Given the description of an element on the screen output the (x, y) to click on. 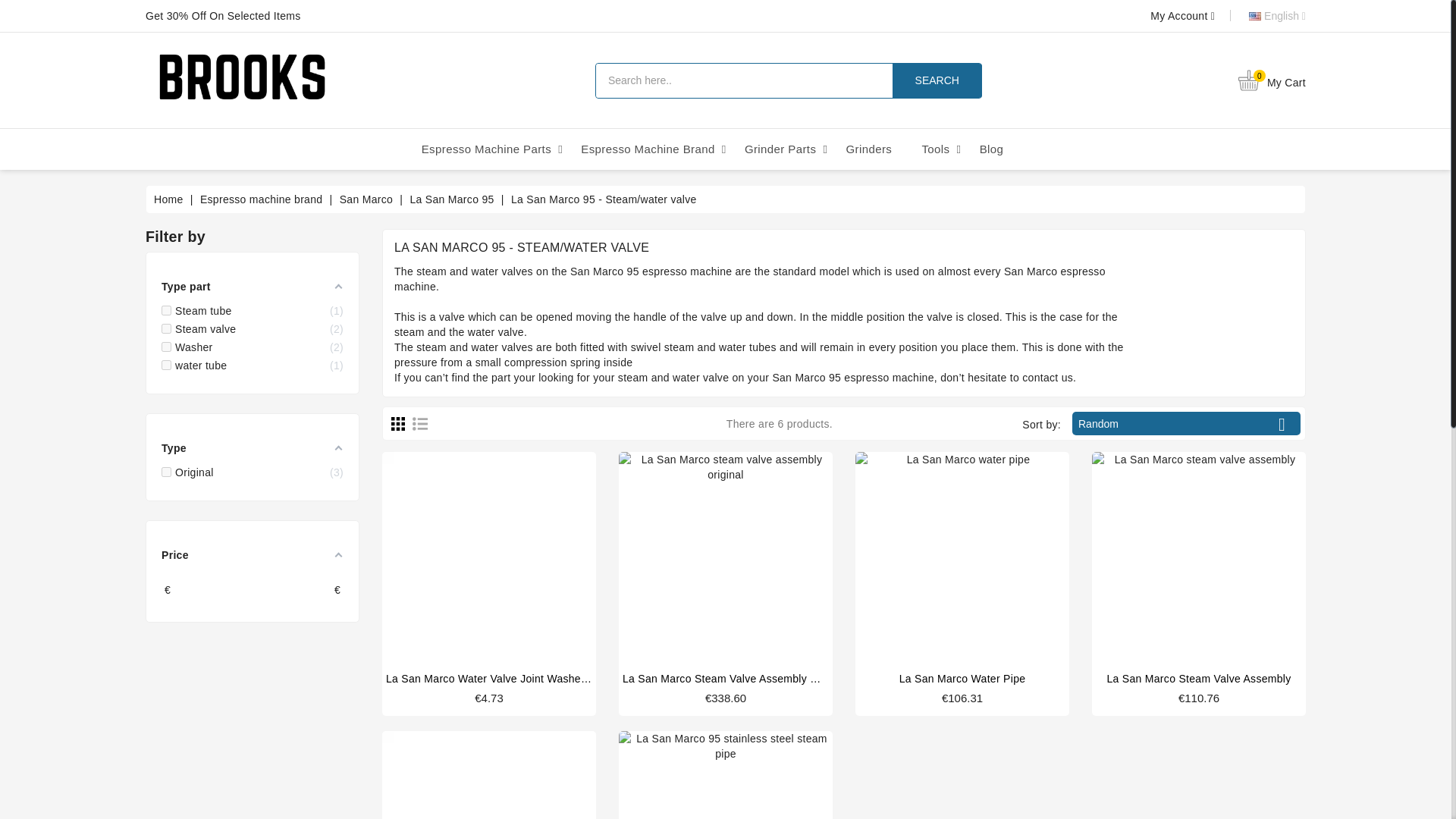
8193 (166, 365)
5948 (166, 310)
Espresso Machine Parts (486, 149)
SEARCH (936, 80)
English (1260, 15)
1930 (166, 471)
6376 (166, 347)
6063 (166, 328)
